Given the description of an element on the screen output the (x, y) to click on. 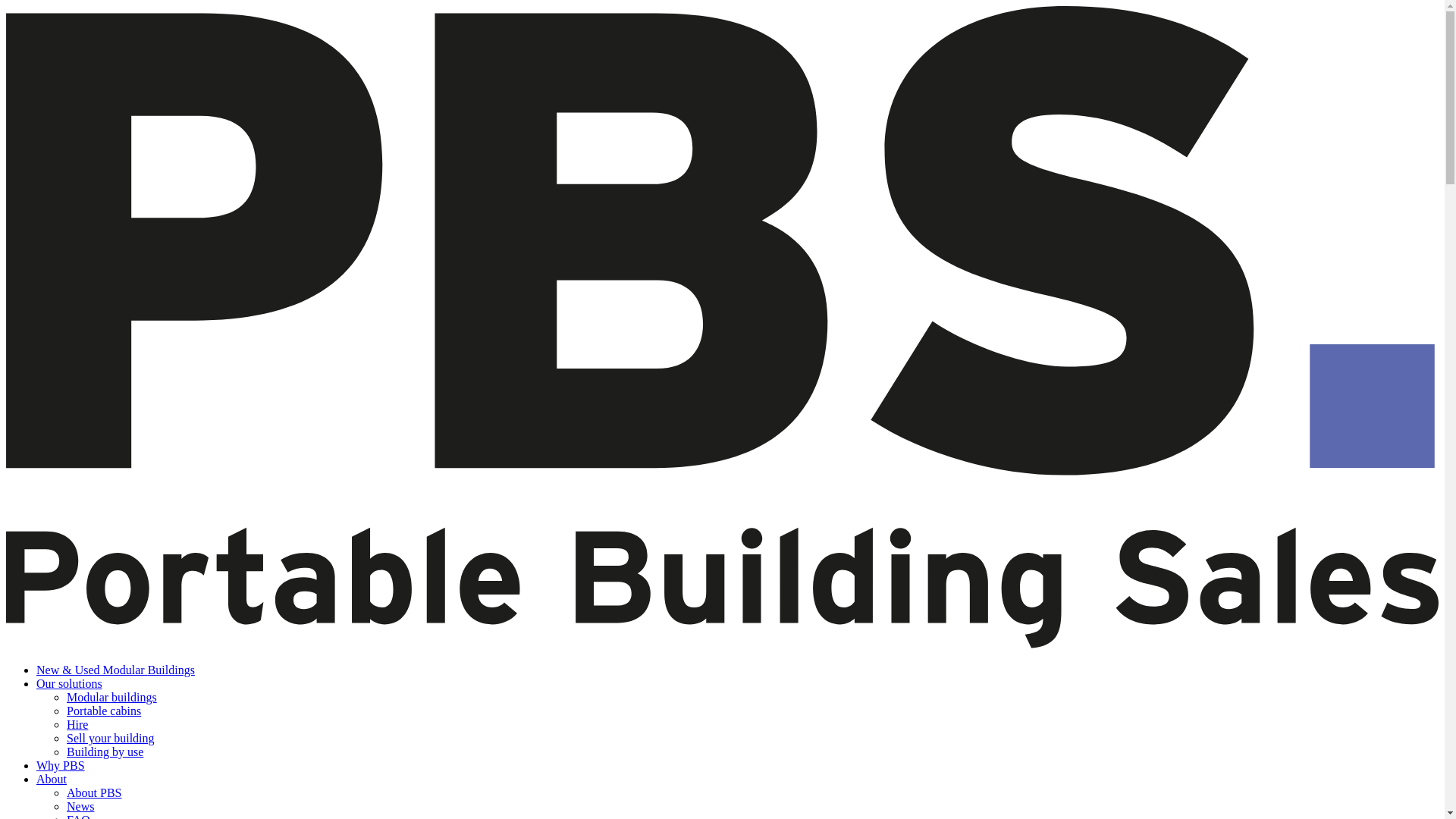
FAQ (78, 816)
Our solutions (68, 683)
Sell your building (110, 738)
Building by use (104, 751)
Modular buildings (111, 697)
News (80, 806)
Portable cabins (103, 710)
Hire (76, 724)
About (51, 779)
Why PBS (60, 765)
